Given the description of an element on the screen output the (x, y) to click on. 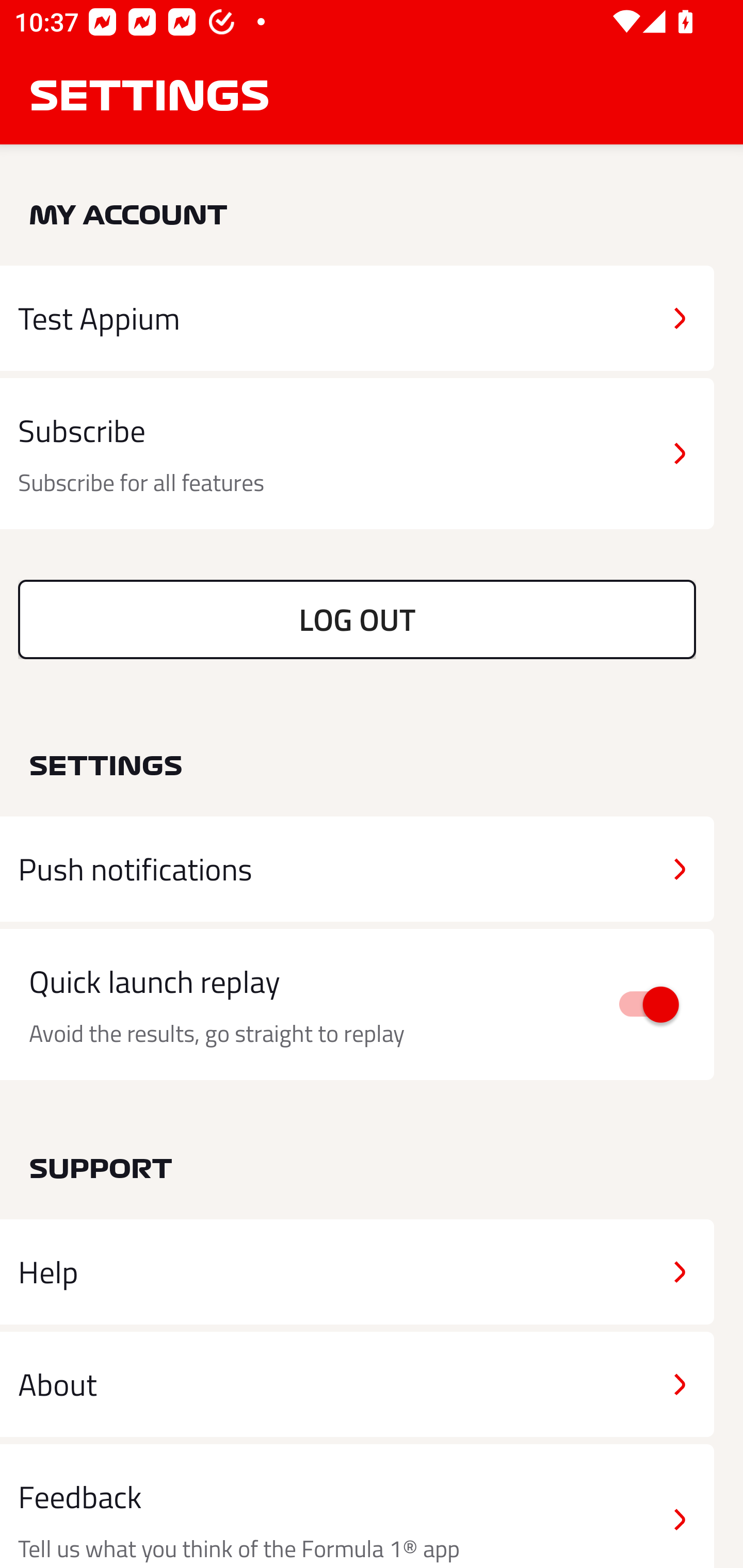
Test Appium (357, 317)
Subscribe Subscribe for all features (357, 453)
LOG OUT (356, 619)
Push notifications (357, 868)
Help (357, 1271)
About (357, 1383)
